Given the description of an element on the screen output the (x, y) to click on. 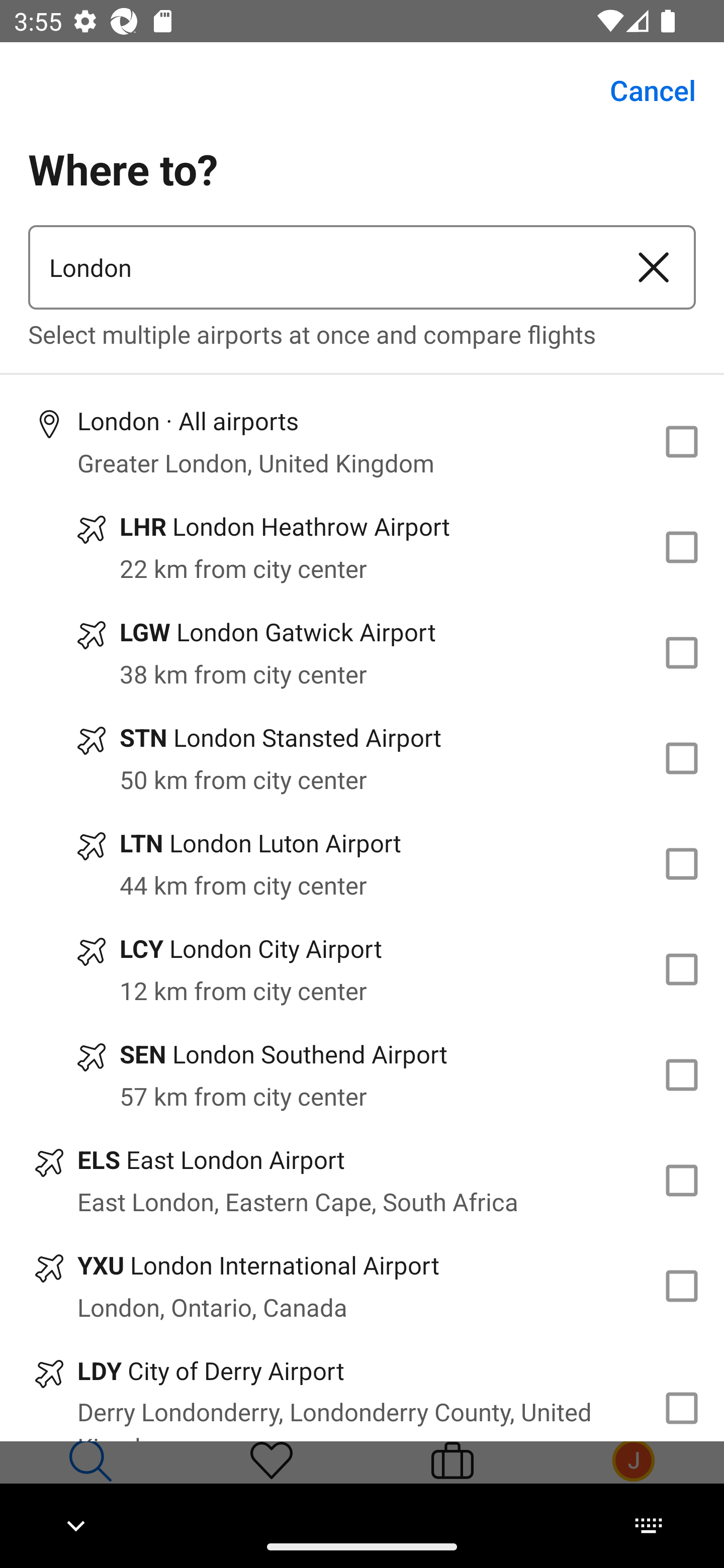
Cancel (641, 90)
London (319, 266)
Clear airport or city (653, 266)
LHR London Heathrow Airport 22 km from city center (362, 547)
LGW London Gatwick Airport 38 km from city center (362, 652)
STN London Stansted Airport 50 km from city center (362, 757)
LTN London Luton Airport 44 km from city center (362, 863)
LCY London City Airport 12 km from city center (362, 969)
SEN London Southend Airport 57 km from city center (362, 1074)
